Given the description of an element on the screen output the (x, y) to click on. 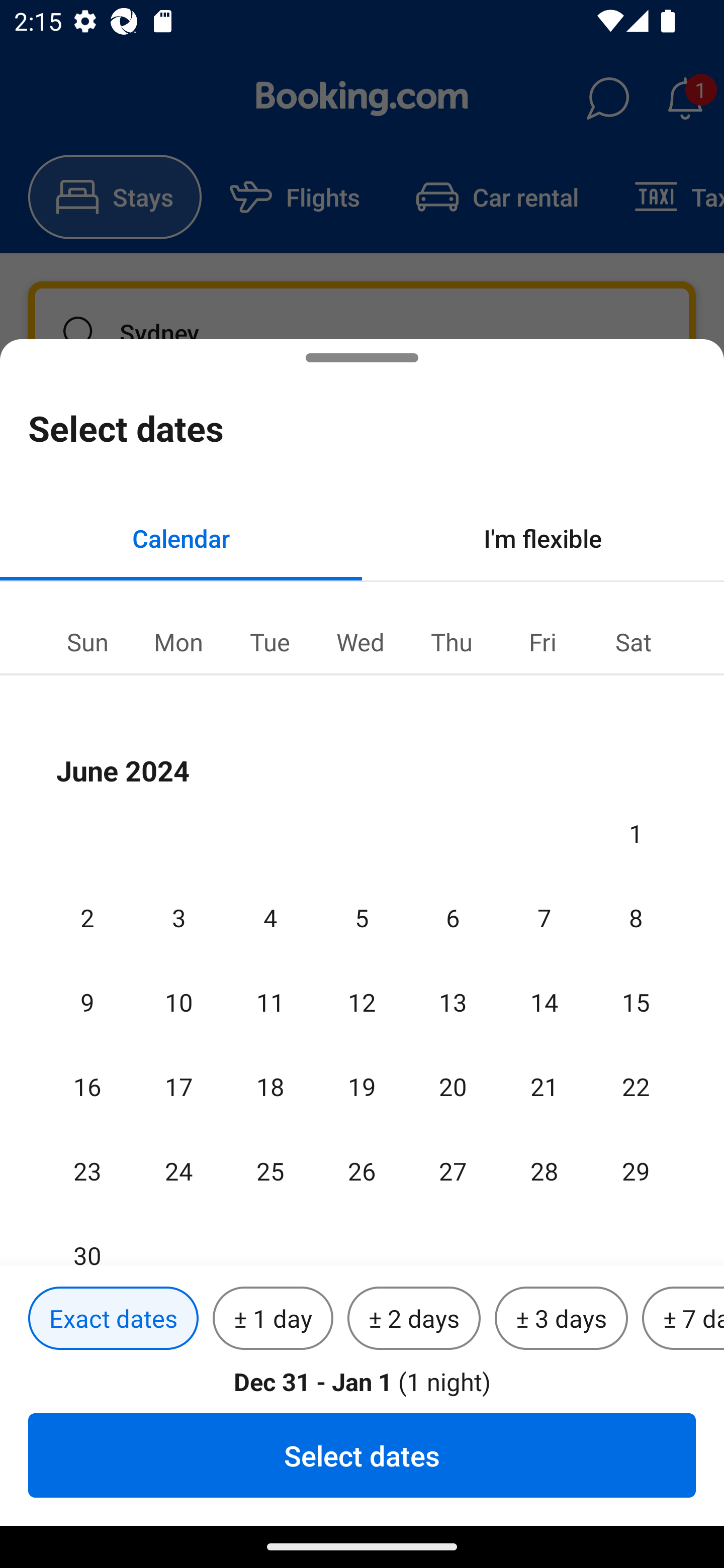
I'm flexible (543, 537)
Exact dates (113, 1318)
± 1 day (272, 1318)
± 2 days (413, 1318)
± 3 days (560, 1318)
± 7 days (683, 1318)
Select dates (361, 1454)
